Given the description of an element on the screen output the (x, y) to click on. 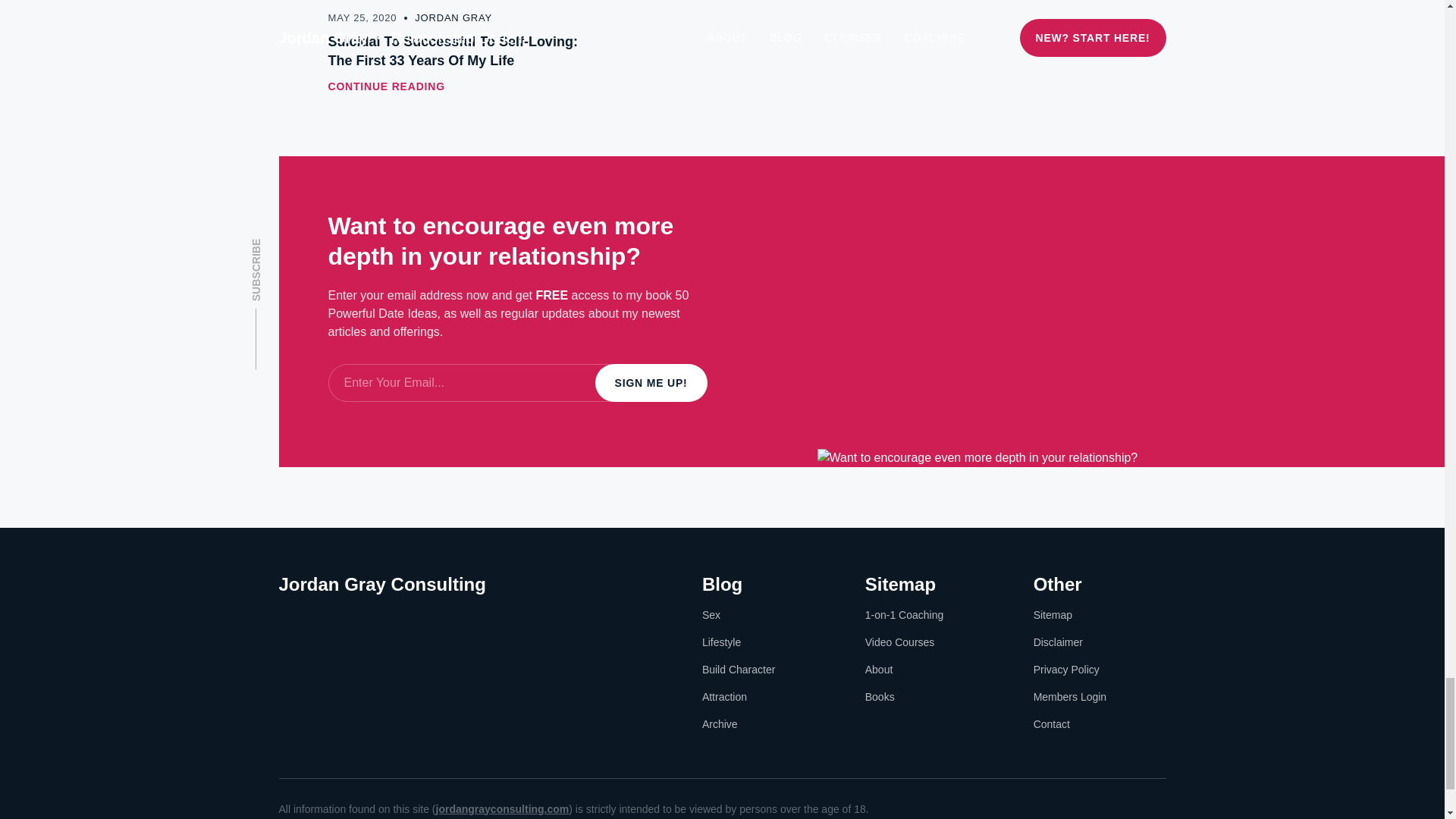
Sign Me Up! (651, 382)
Instagram (324, 616)
Facebook (288, 616)
